Given the description of an element on the screen output the (x, y) to click on. 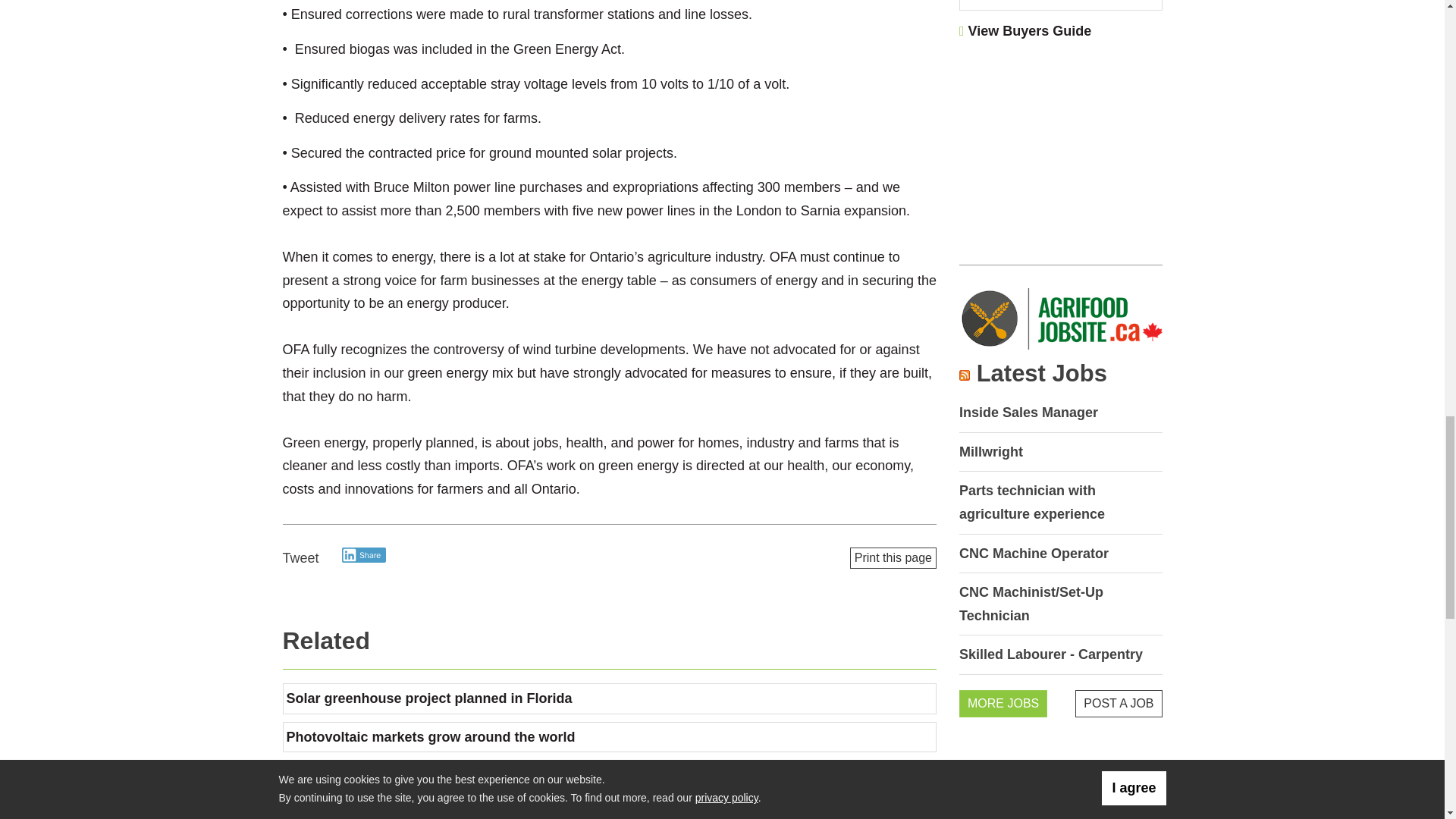
3rd party ad content (1060, 146)
